Given the description of an element on the screen output the (x, y) to click on. 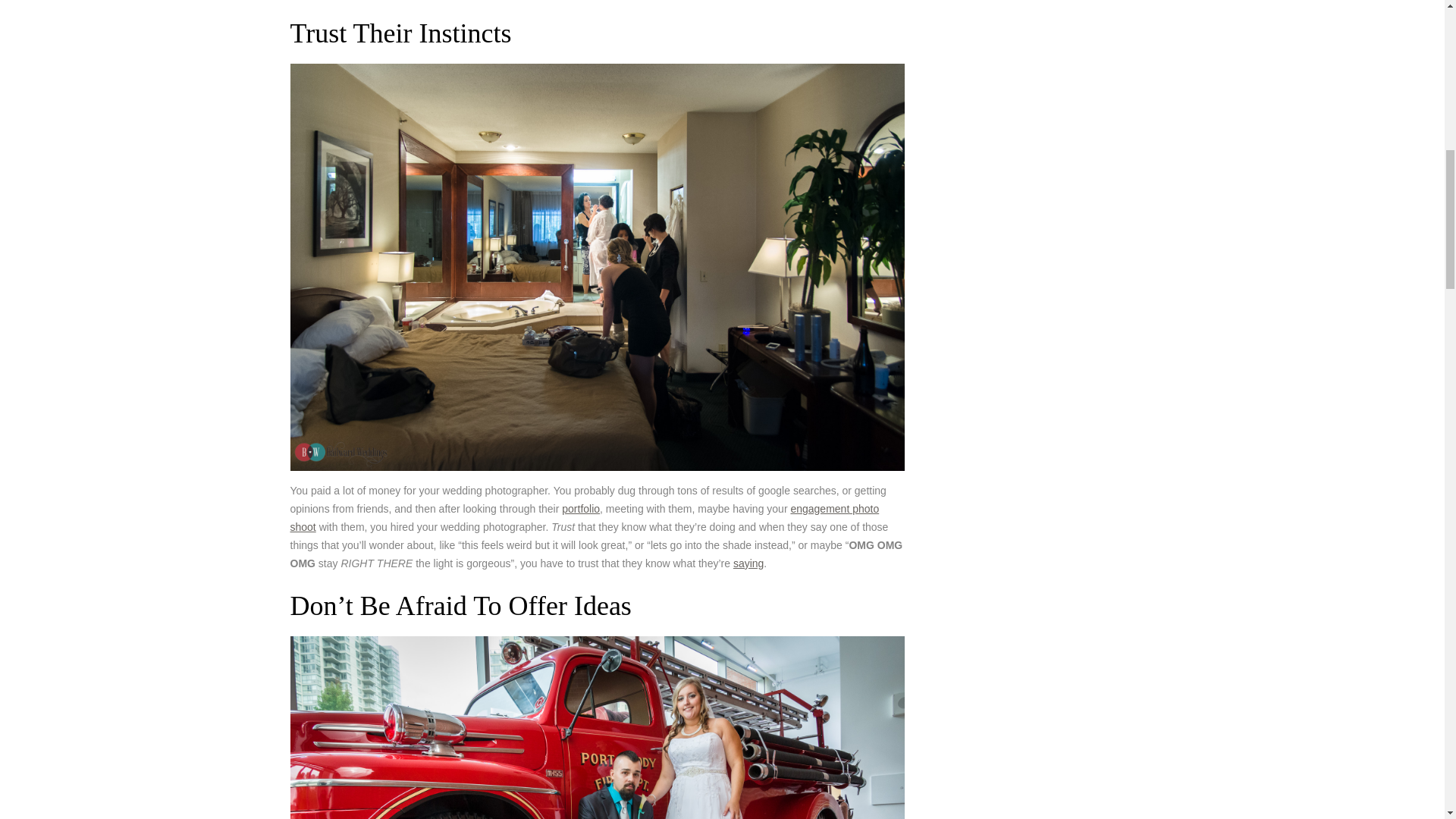
saying (747, 563)
engagement photo shoot (584, 517)
Shit Photographers Say (747, 563)
Abbotsford Wedding Photographer Portfolio (580, 508)
Lower Mainland Engagment Photo Shoot Information (584, 517)
portfolio (580, 508)
